Given the description of an element on the screen output the (x, y) to click on. 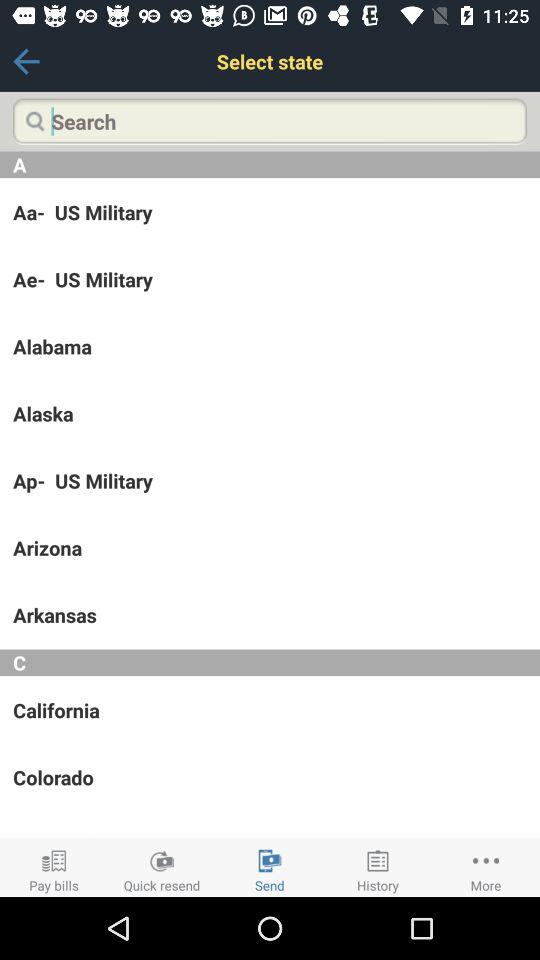
press icon above c icon (270, 615)
